Given the description of an element on the screen output the (x, y) to click on. 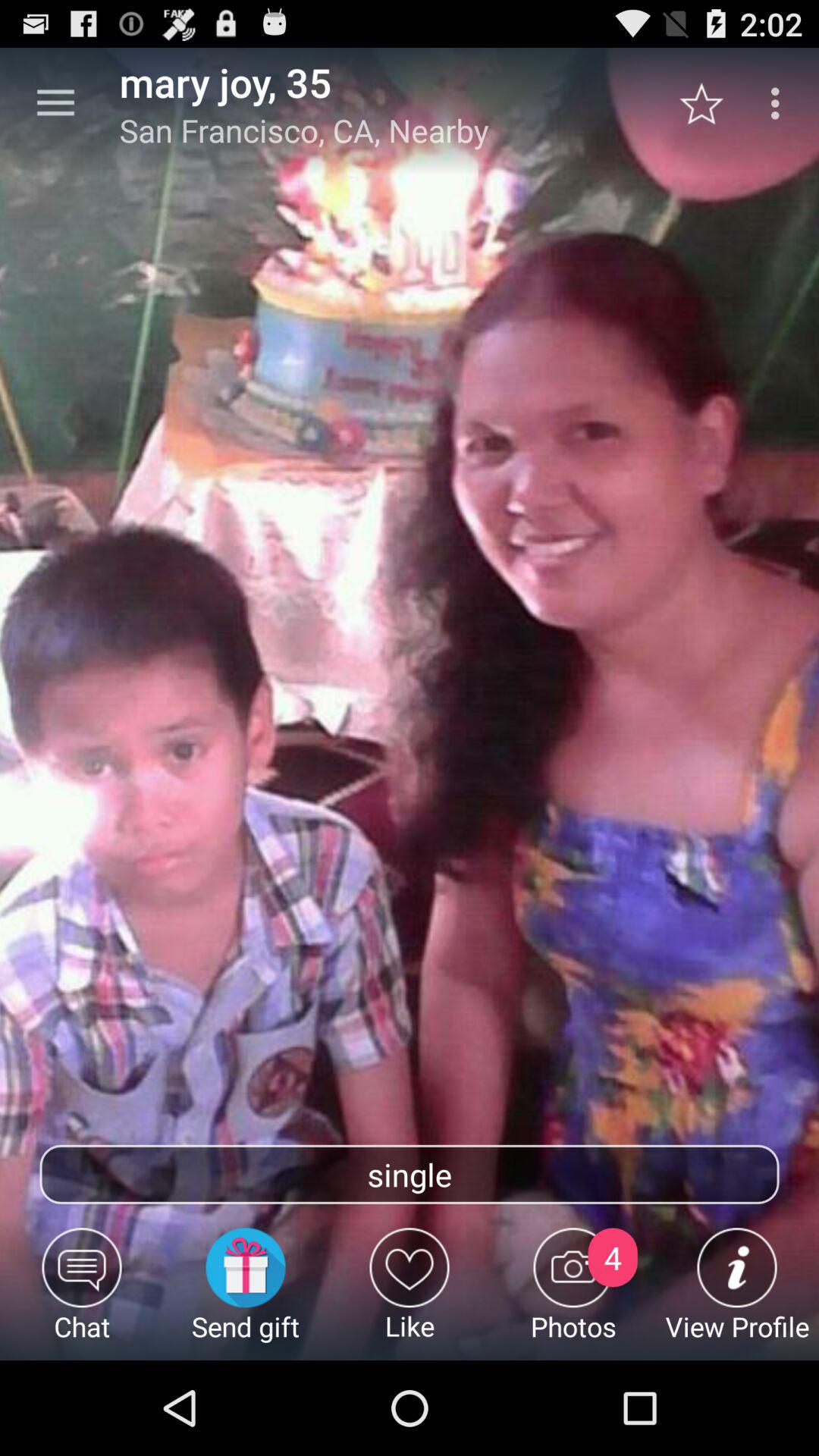
click item below the single (245, 1293)
